Given the description of an element on the screen output the (x, y) to click on. 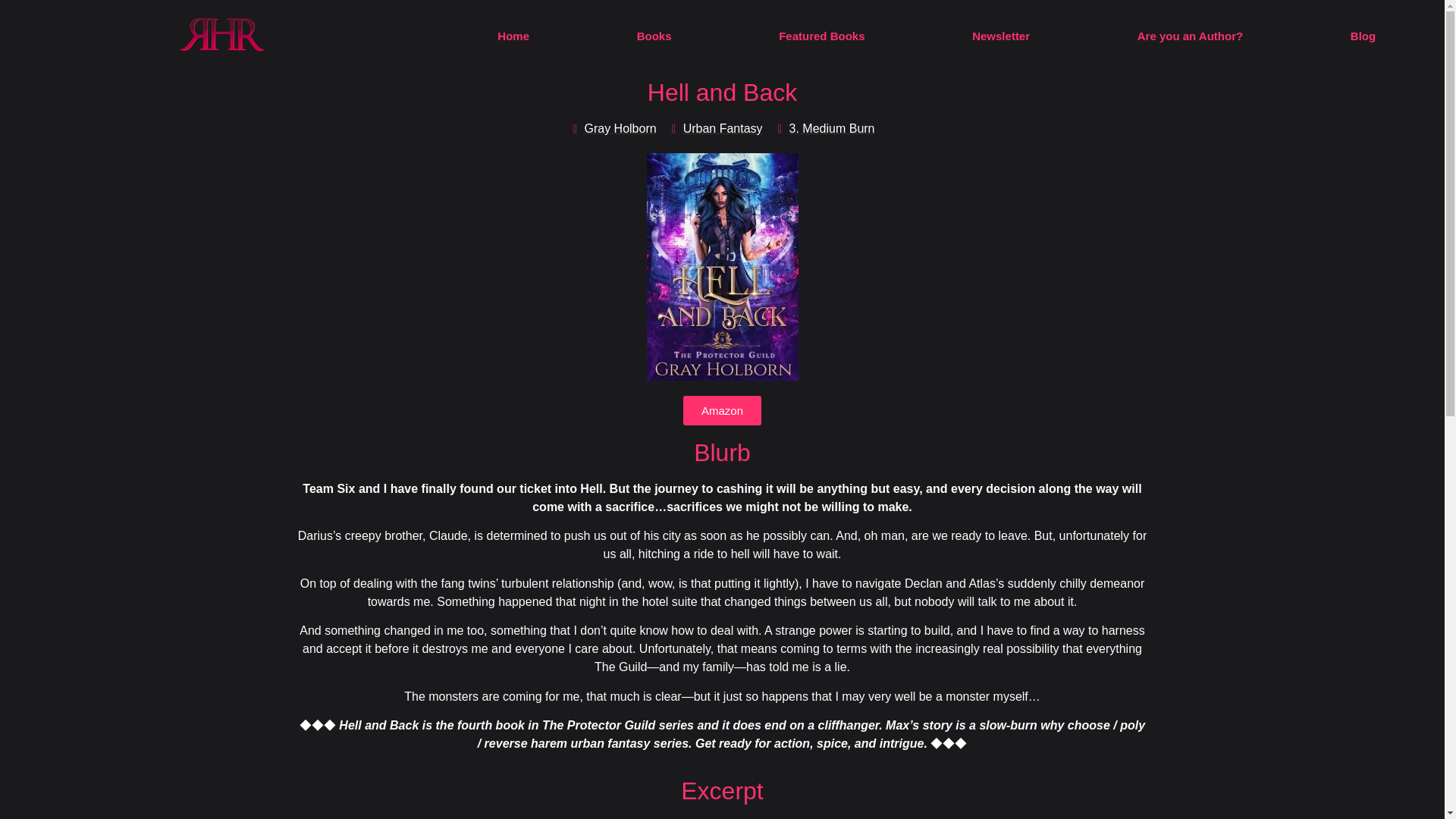
Blog (1363, 36)
Are you an Author? (1190, 36)
Books (654, 36)
Featured Books (821, 36)
Newsletter (1000, 36)
Home (513, 36)
